Given the description of an element on the screen output the (x, y) to click on. 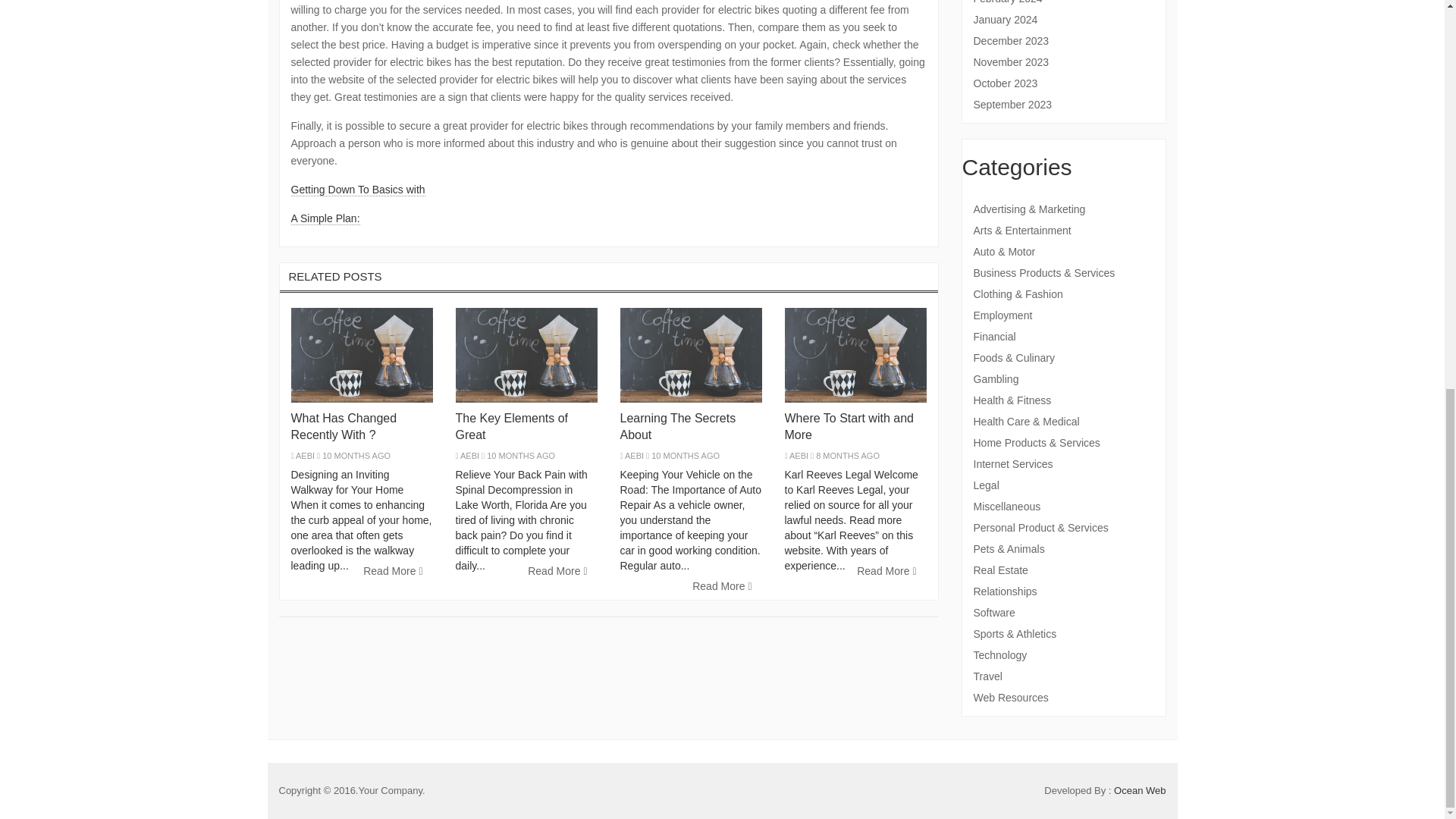
Where To Start with and More (848, 426)
Read More (721, 586)
Learning The Secrets About (678, 426)
Getting Down To Basics with (358, 189)
Read More (557, 571)
Read More (392, 571)
A Simple Plan: (325, 218)
Read More (886, 571)
What Has Changed Recently With ? (344, 426)
The Key Elements of Great (510, 426)
